Given the description of an element on the screen output the (x, y) to click on. 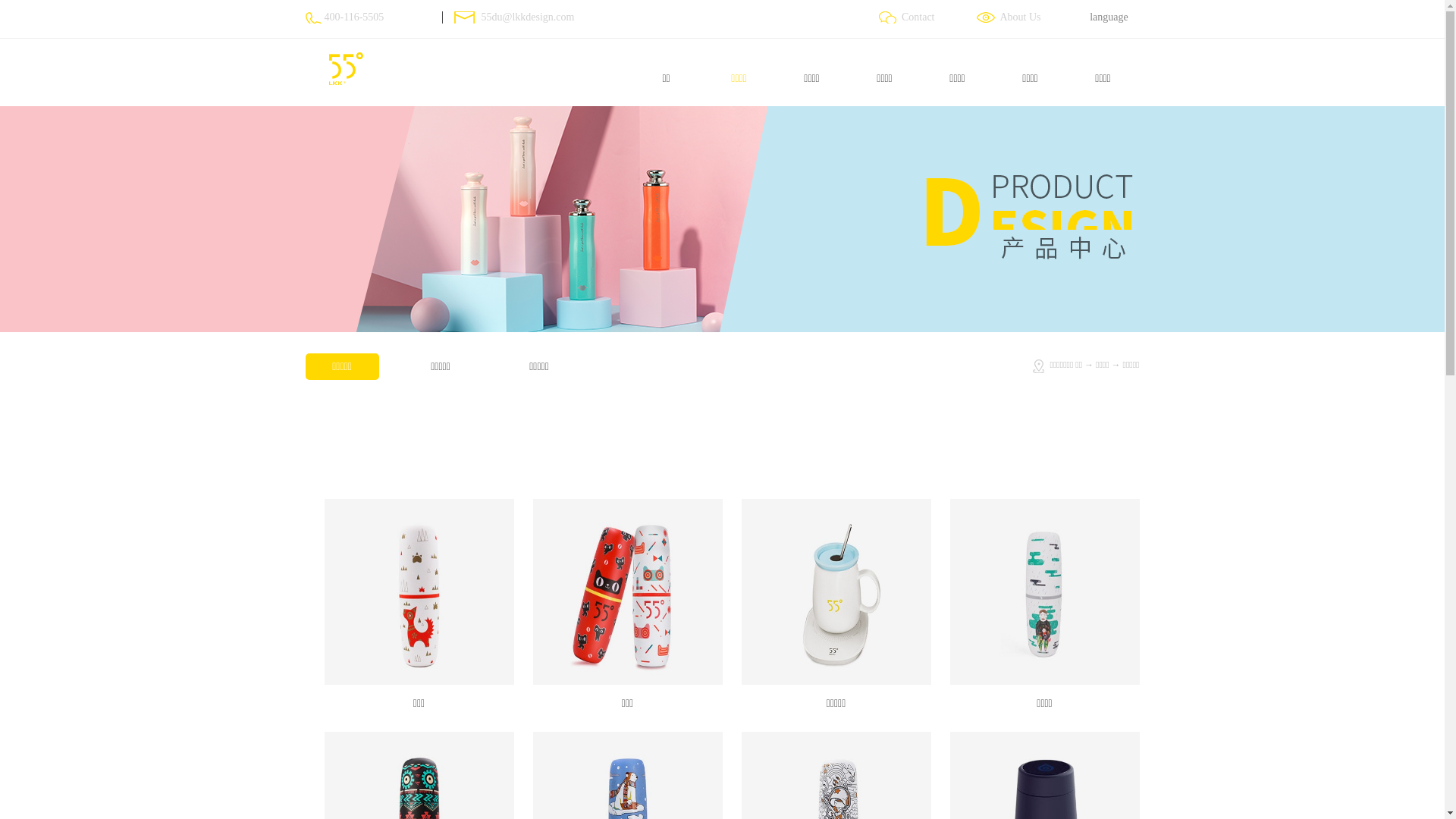
About Us Element type: text (1017, 15)
  Element type: text (3, 7)
Contact Element type: text (916, 15)
